Given the description of an element on the screen output the (x, y) to click on. 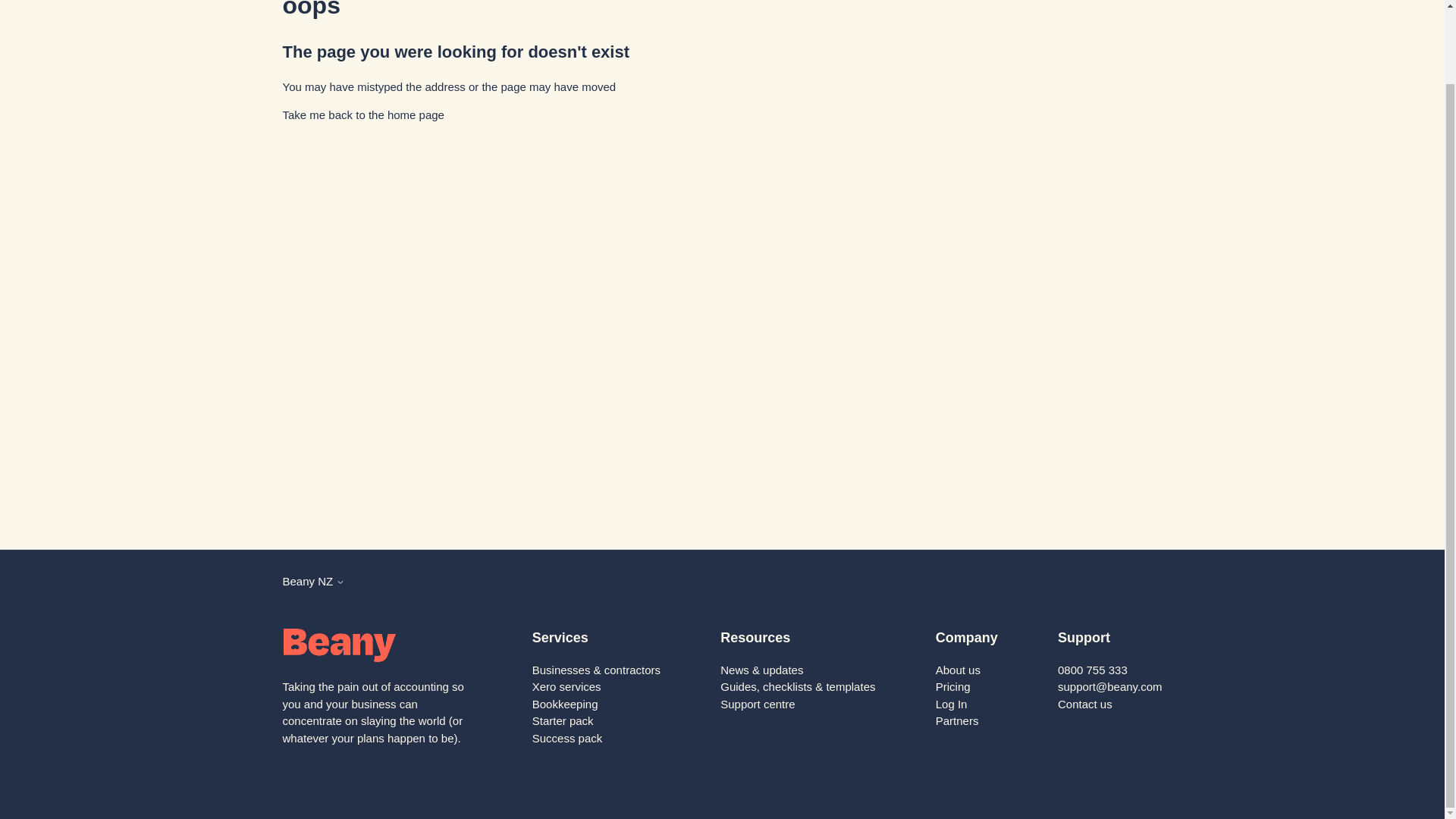
About us (957, 669)
Partners (957, 720)
Take me back to the home page (363, 114)
Starter pack (563, 720)
Home (363, 114)
Success pack (567, 738)
Support centre (757, 703)
Xero services (566, 686)
0800 755 333 (1092, 669)
Bookkeeping (565, 703)
